Given the description of an element on the screen output the (x, y) to click on. 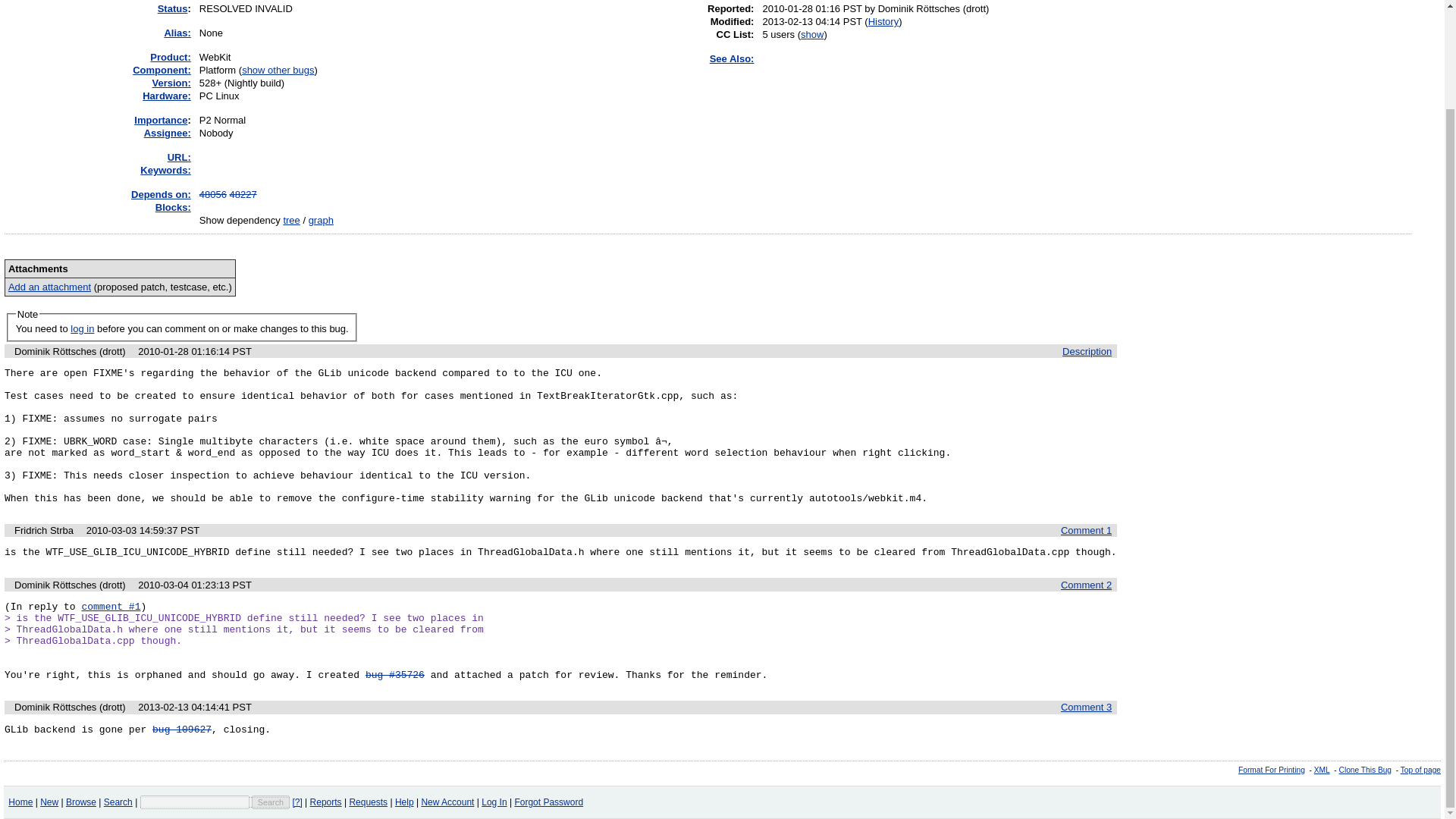
Assignee: (167, 132)
Blocks: (172, 206)
Hardware: (166, 95)
show other bugs (277, 70)
The person in charge of resolving the bug. (167, 132)
Product: (169, 57)
Status (172, 8)
